Given the description of an element on the screen output the (x, y) to click on. 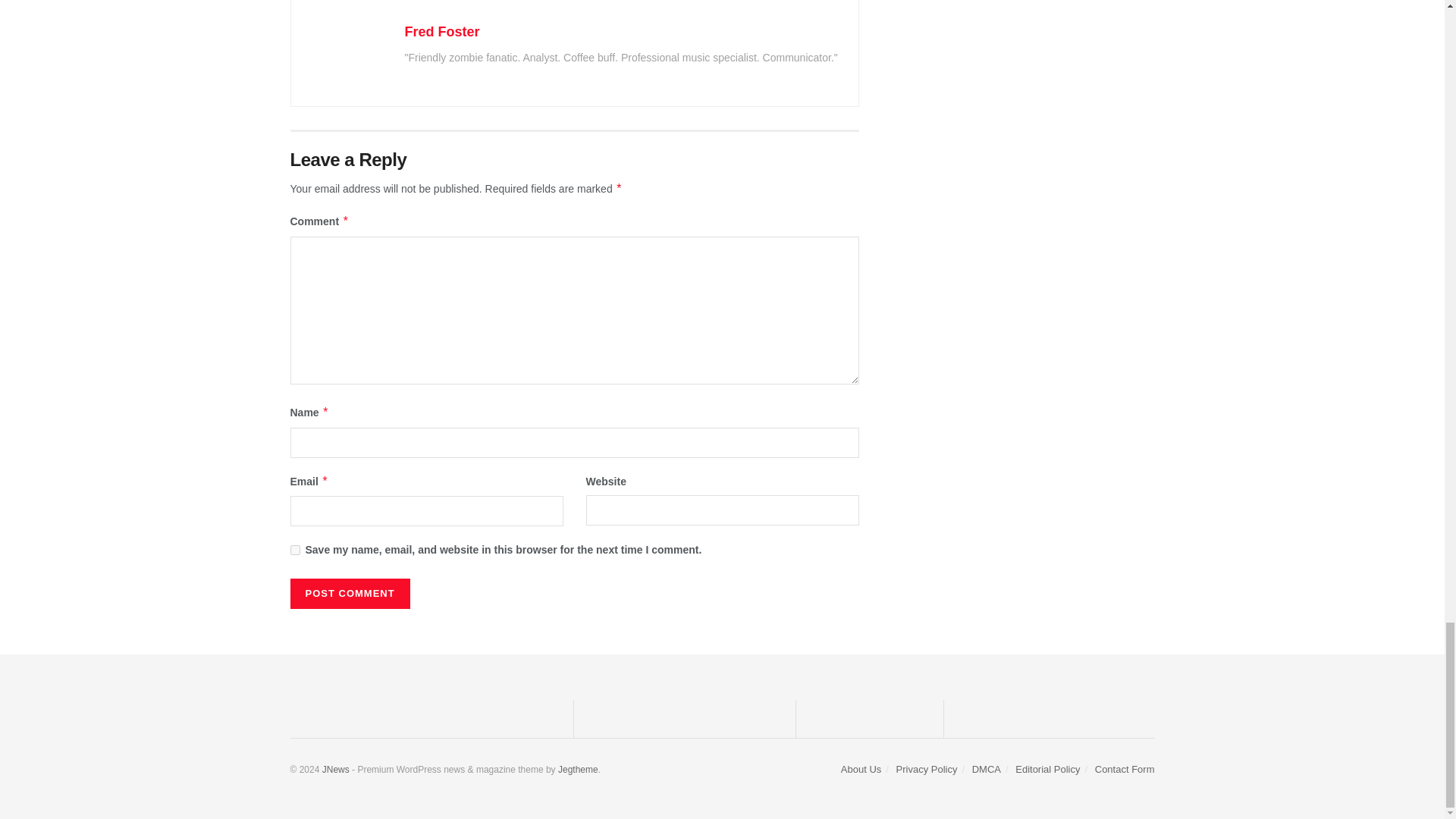
Post Comment (349, 593)
Jegtheme (577, 769)
yes (294, 550)
